Given the description of an element on the screen output the (x, y) to click on. 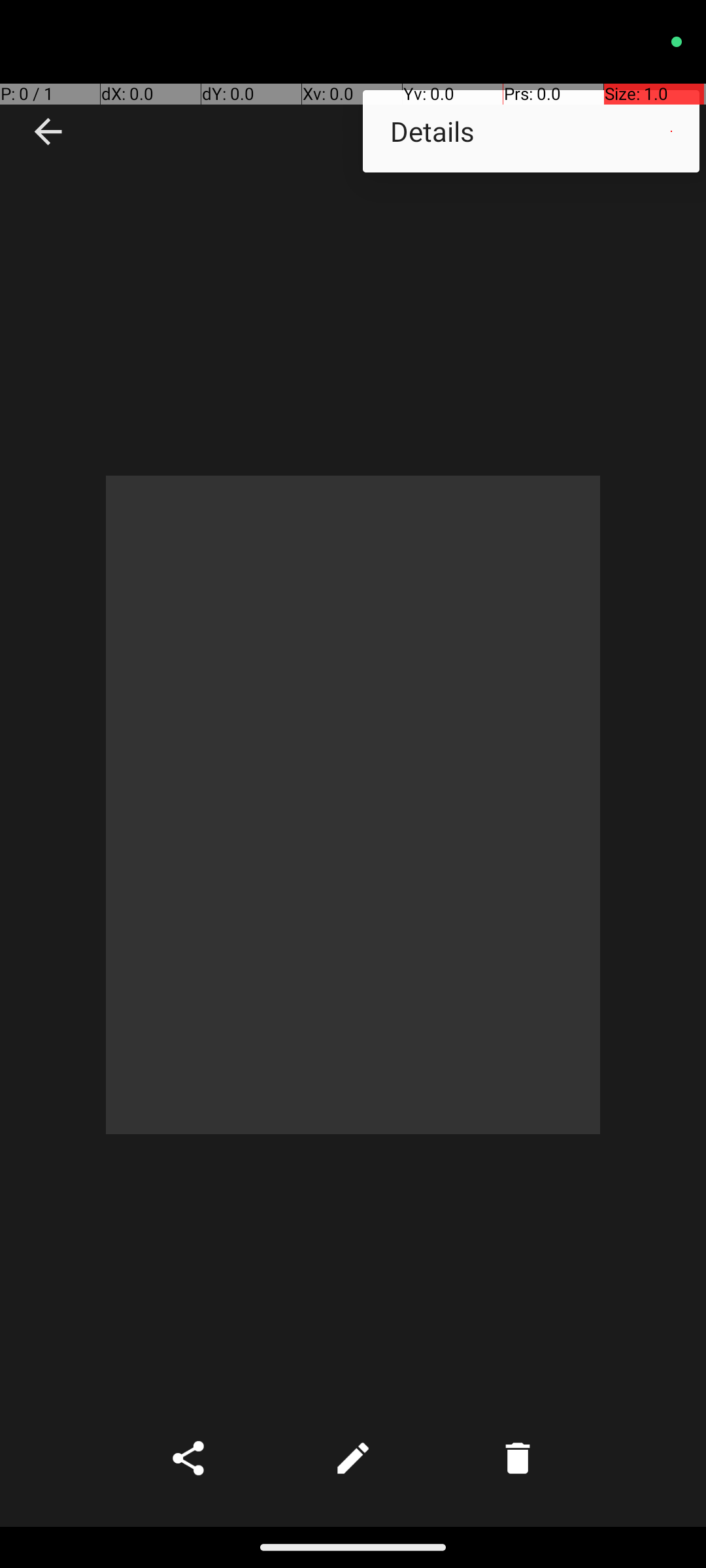
Details Element type: android.widget.TextView (531, 130)
